Given the description of an element on the screen output the (x, y) to click on. 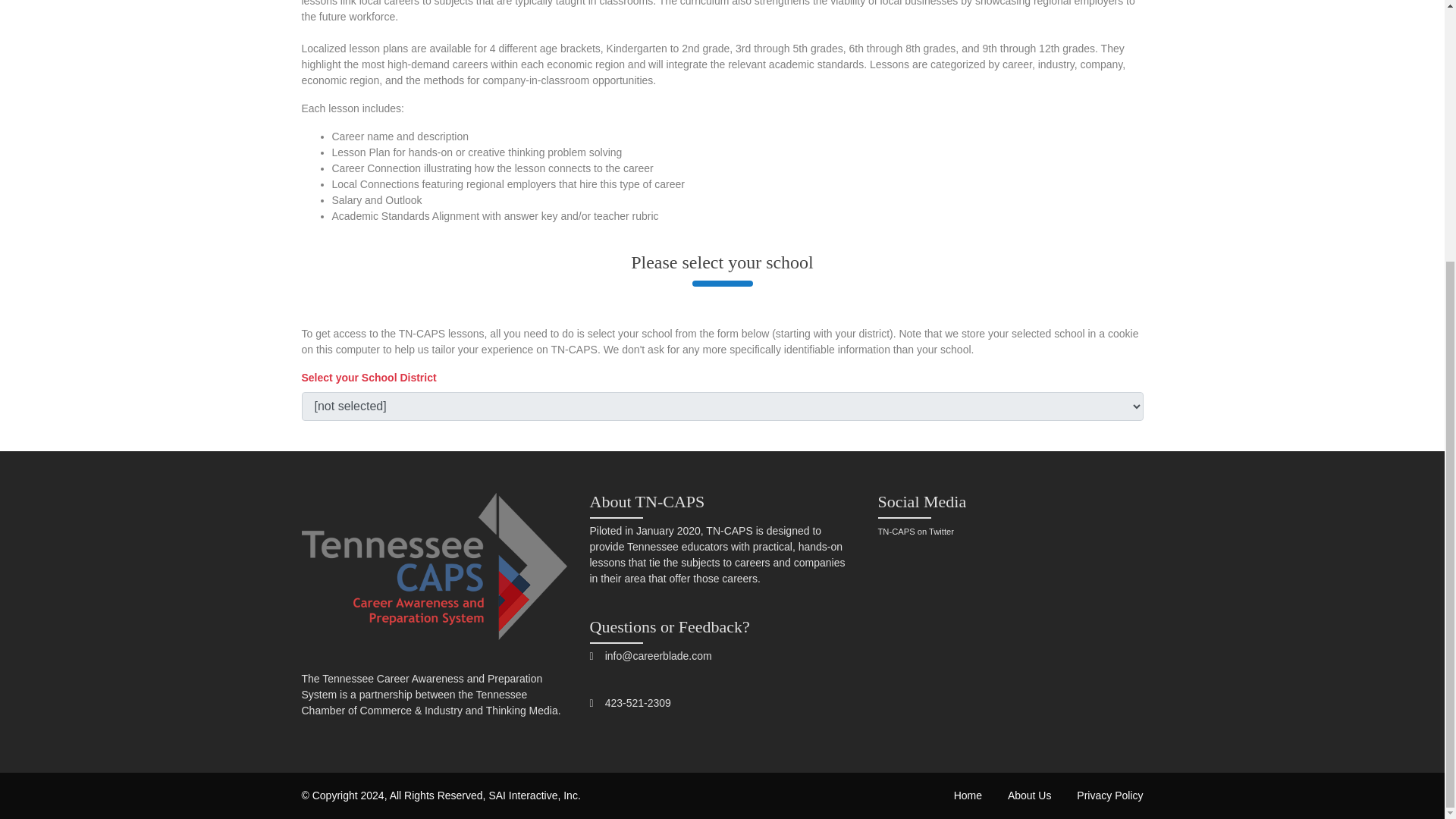
About Us (1029, 795)
423-521-2309 (638, 702)
Home (967, 795)
SAI Interactive, Inc. (533, 795)
Privacy Policy (1109, 795)
TN-CAPS on Twitter (916, 531)
